Given the description of an element on the screen output the (x, y) to click on. 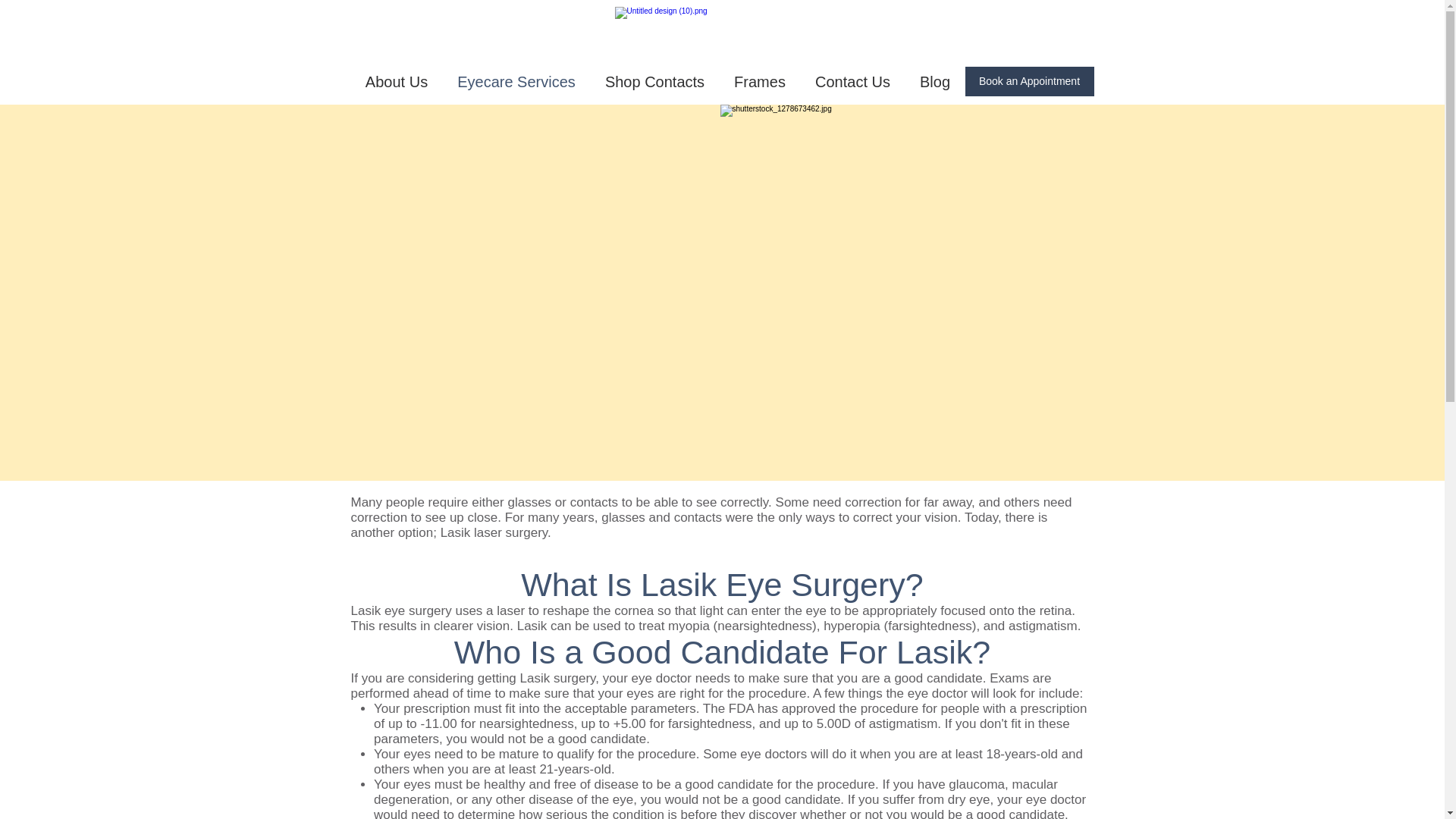
Book an Appointment (1028, 81)
Frames (759, 81)
Shop Contacts (654, 81)
Eyecare Services (516, 81)
Contact Us (852, 81)
About Us (396, 81)
Blog (935, 81)
